Given the description of an element on the screen output the (x, y) to click on. 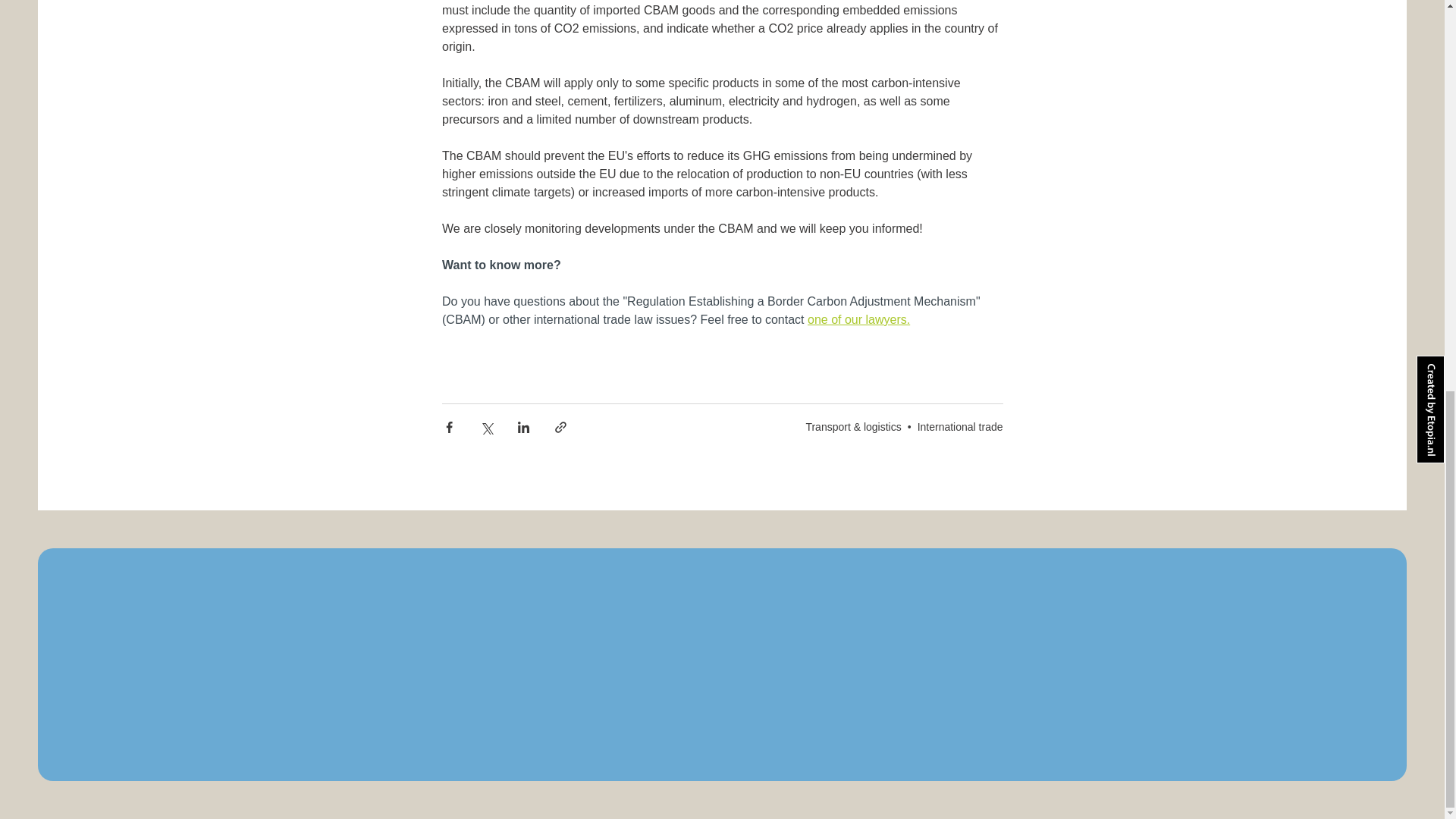
International trade (960, 426)
one of our lawyers. (857, 318)
